Given the description of an element on the screen output the (x, y) to click on. 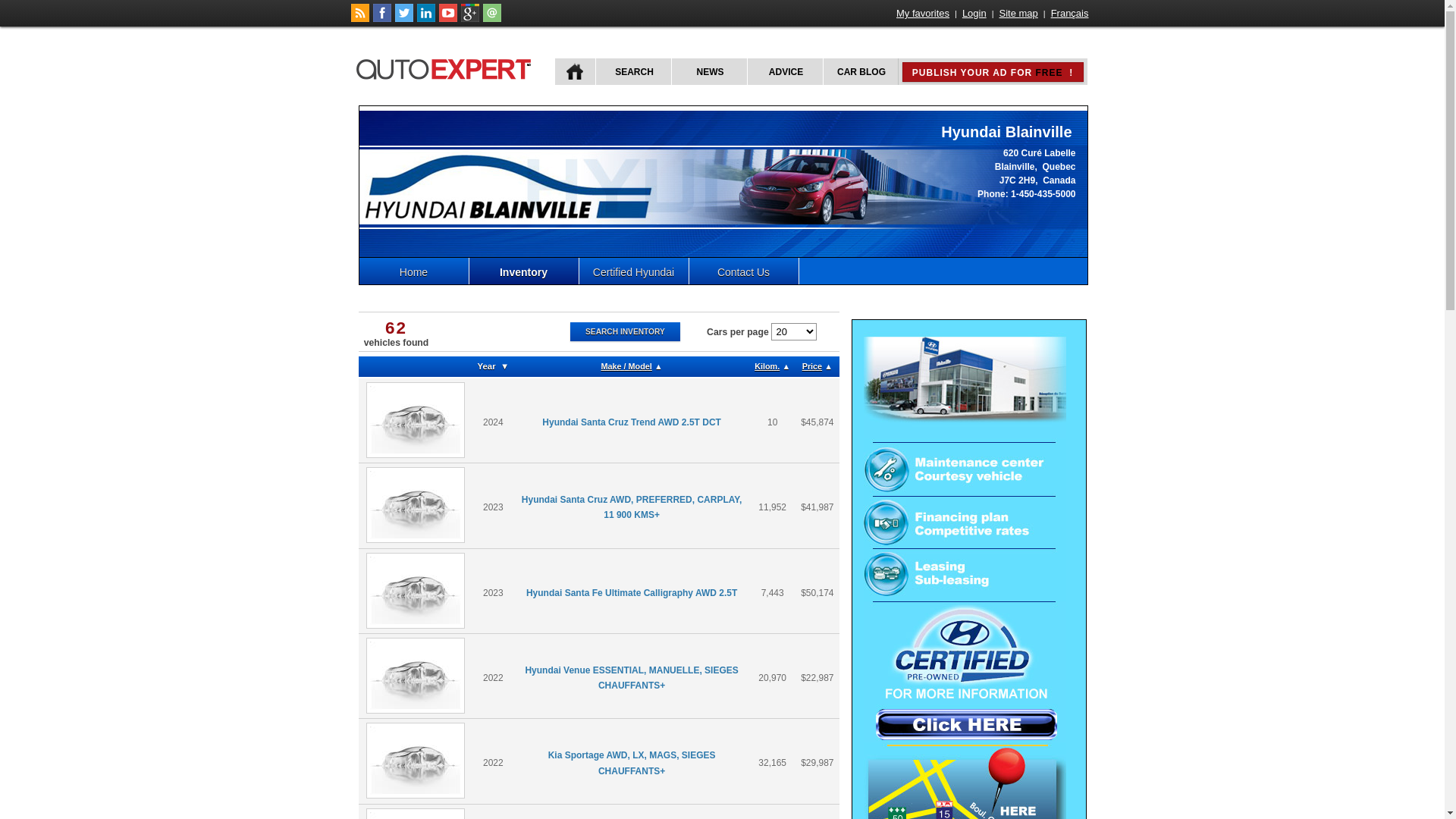
SEARCH Element type: text (632, 71)
Hyundai Venue ESSENTIAL, MANUELLE, SIEGES CHAUFFANTS+ Element type: text (630, 677)
Follow car news on autoExpert.ca Element type: hover (359, 18)
2024 Hyundai Santa Cruz Trend AWD 2.5T DCT for sale Element type: hover (415, 420)
Follow autoExpert.ca on Youtube Element type: hover (447, 18)
Kia Sportage AWD, LX, MAGS, SIEGES CHAUFFANTS+ Element type: text (631, 762)
Login Element type: text (974, 13)
Follow Publications Le Guide Inc. on LinkedIn Element type: hover (426, 18)
Contact Us Element type: text (743, 270)
NEWS Element type: text (708, 71)
CAR BLOG Element type: text (859, 71)
2022 Kia Sportage AWD, LX, MAGS, SIEGES CHAUFFANTS+ for sale Element type: hover (415, 760)
PUBLISH YOUR AD FOR FREE  ! Element type: text (992, 71)
Follow autoExpert.ca on Google Plus Element type: hover (470, 18)
autoExpert.ca Element type: text (446, 66)
Price Element type: text (812, 366)
My favorites Element type: text (922, 13)
Hyundai Blainville services Element type: hover (964, 519)
ADVICE Element type: text (784, 71)
Hyundai certified pre-owned at Hyundai Blainville Element type: hover (964, 739)
Hyundai Santa Cruz AWD, PREFERRED, CARPLAY, 11 900 KMS+ Element type: text (631, 507)
SEARCH INVENTORY Element type: text (625, 331)
Inventory Element type: text (523, 270)
Follow autoExpert.ca on Twitter Element type: hover (403, 18)
Hyundai Santa Cruz Trend AWD 2.5T DCT Element type: text (631, 422)
Site map Element type: text (1018, 13)
Make / Model Element type: text (625, 366)
Follow autoExpert.ca on Facebook Element type: hover (382, 18)
2023 Hyundai Santa Fe Ultimate Calligraphy AWD 2.5T for sale Element type: hover (415, 590)
Hyundai Santa Fe Ultimate Calligraphy AWD 2.5T Element type: text (631, 592)
HOME Element type: text (575, 71)
Home Element type: text (414, 270)
Certified Hyundai Element type: text (634, 270)
Contact autoExpert.ca Element type: hover (491, 18)
Kilom. Element type: text (766, 366)
